Given the description of an element on the screen output the (x, y) to click on. 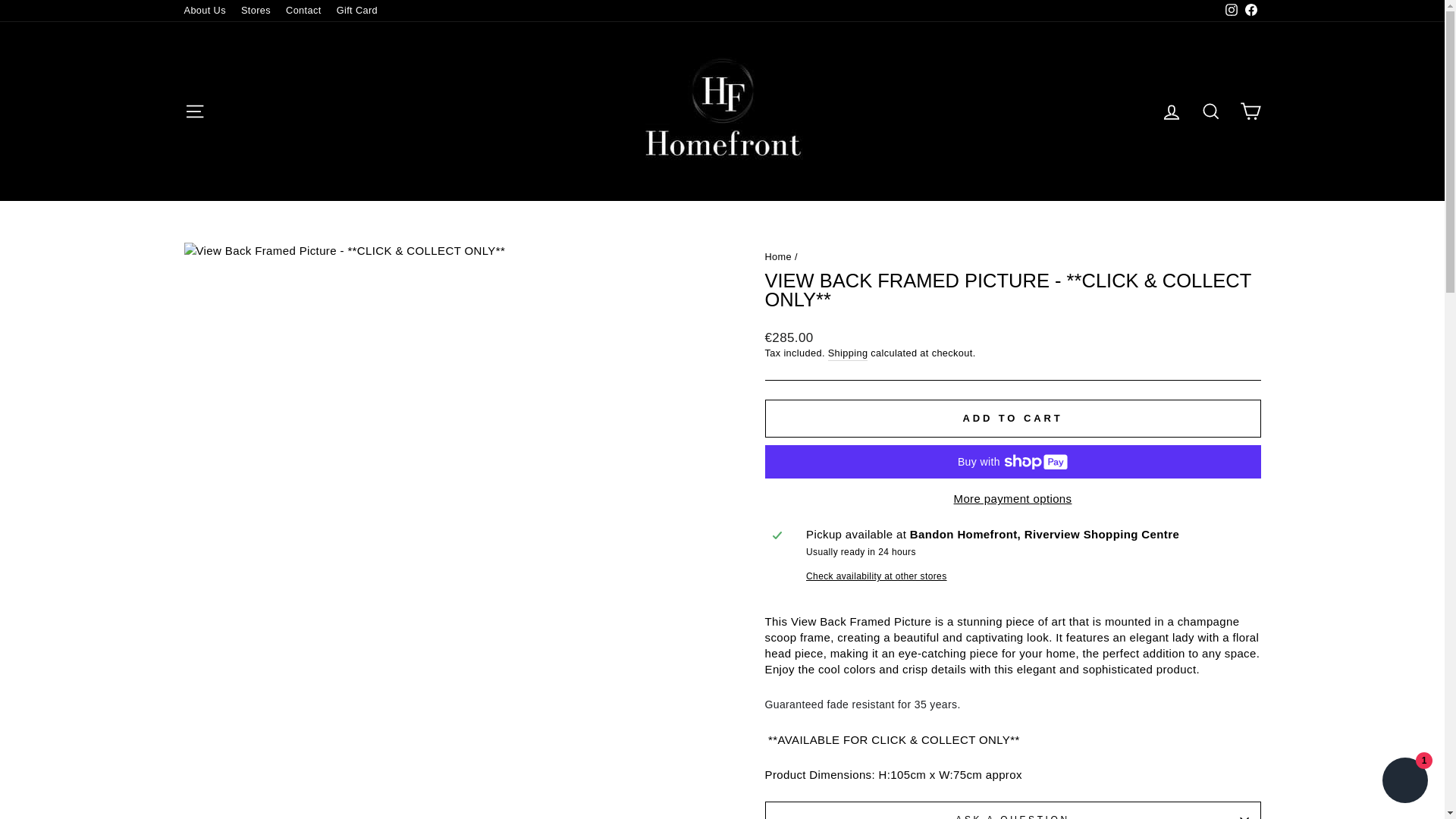
Shopify online store chat (1404, 781)
Back to the frontpage (778, 256)
